Given the description of an element on the screen output the (x, y) to click on. 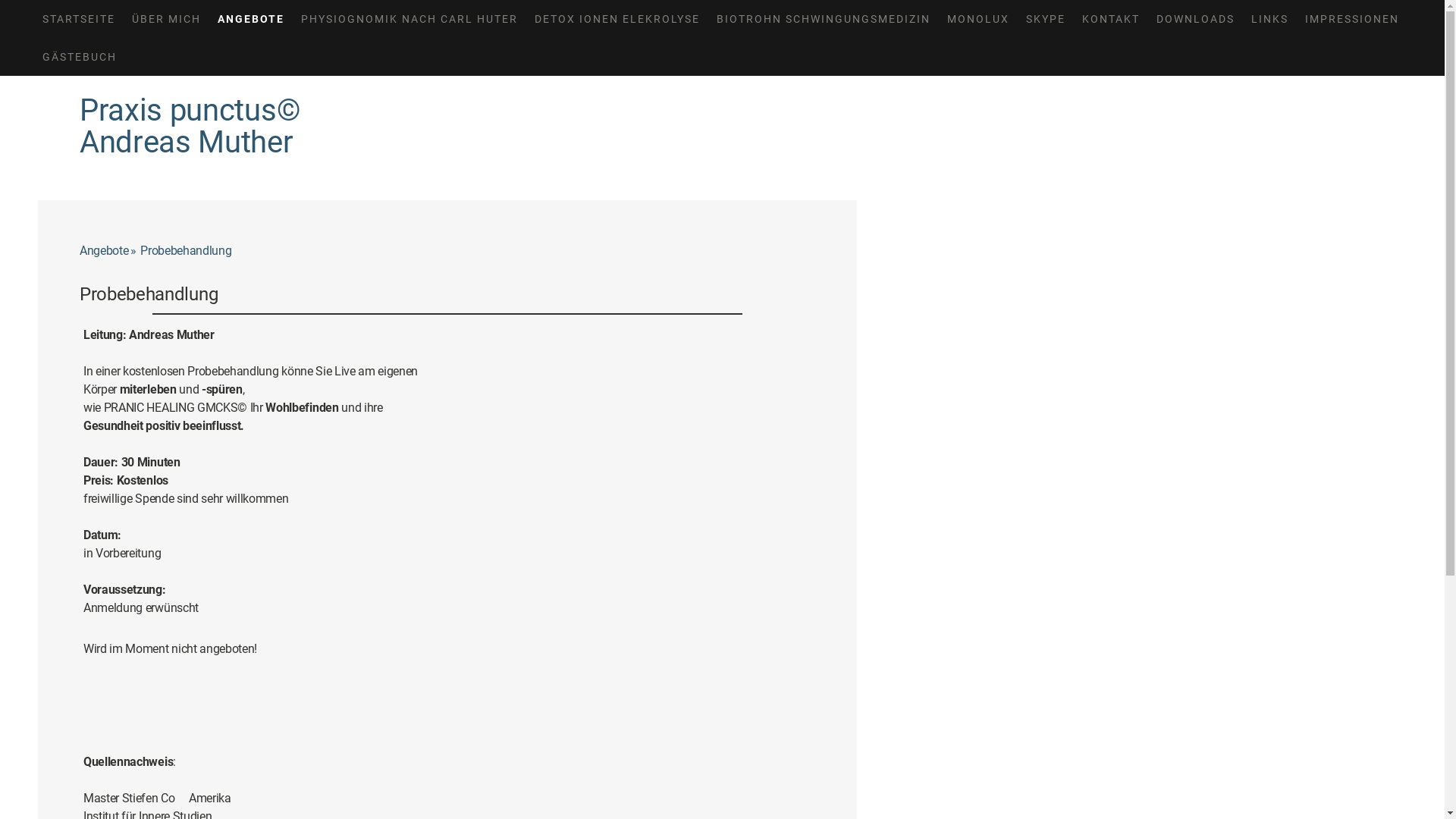
KONTAKT Element type: text (1110, 18)
MONOLUX Element type: text (977, 18)
IMPRESSIONEN Element type: text (1351, 18)
STARTSEITE Element type: text (78, 18)
LINKS Element type: text (1269, 18)
SKYPE Element type: text (1045, 18)
ANGEBOTE Element type: text (250, 18)
BIOTROHN SCHWINGUNGSMEDIZIN Element type: text (823, 18)
Angebote Element type: text (109, 250)
PHYSIOGNOMIK NACH CARL HUTER Element type: text (409, 18)
DETOX IONEN ELEKROLYSE Element type: text (617, 18)
Probebehandlung Element type: text (188, 250)
DOWNLOADS Element type: text (1195, 18)
